Given the description of an element on the screen output the (x, y) to click on. 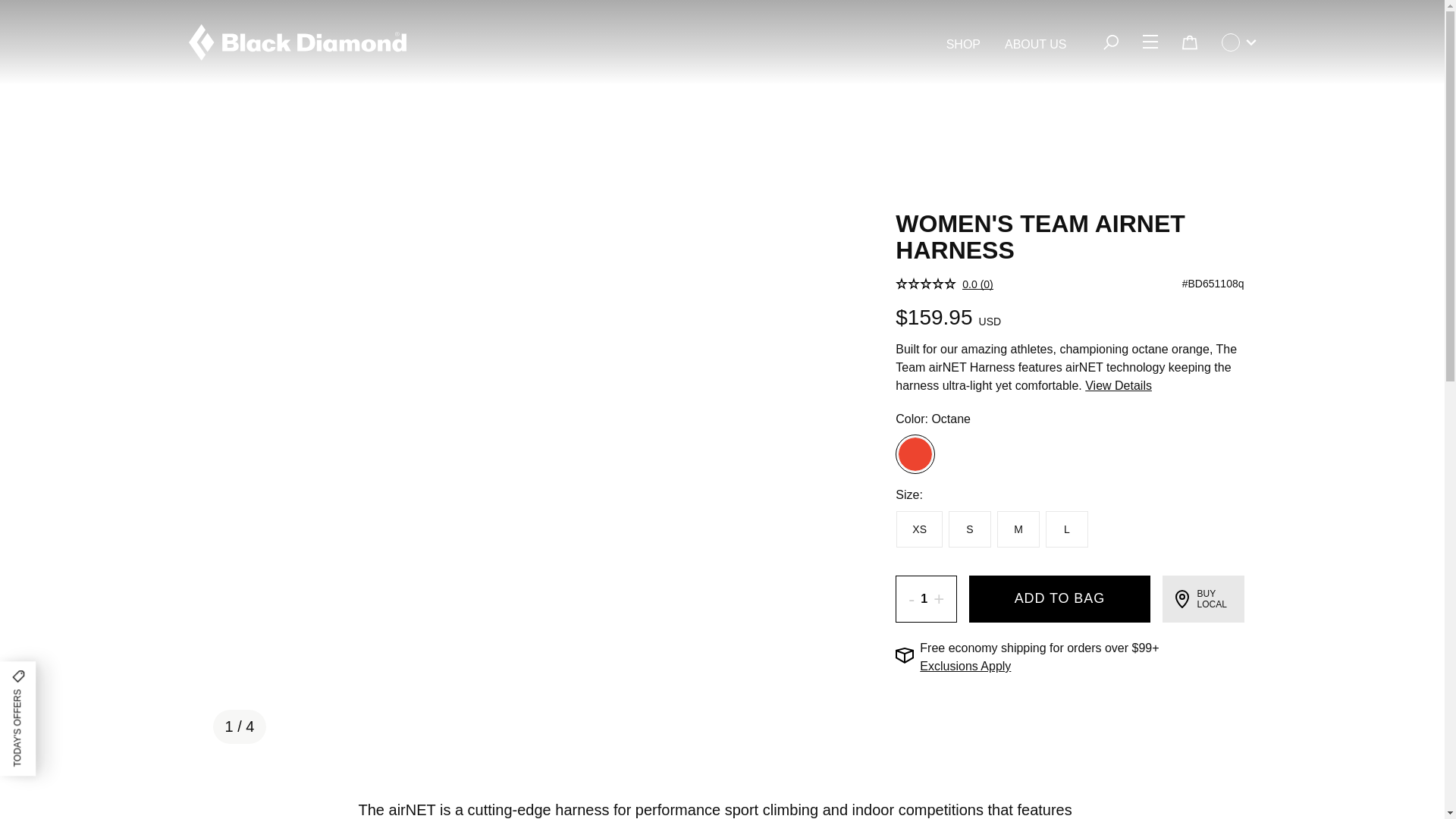
Change Locale (1238, 42)
M  (1018, 529)
Black Diamond (296, 42)
S  (970, 529)
ABOUT US (1035, 44)
SHOP (963, 44)
Black Diamond (296, 42)
XS  (919, 529)
L  (1066, 529)
CART (1188, 42)
